Given the description of an element on the screen output the (x, y) to click on. 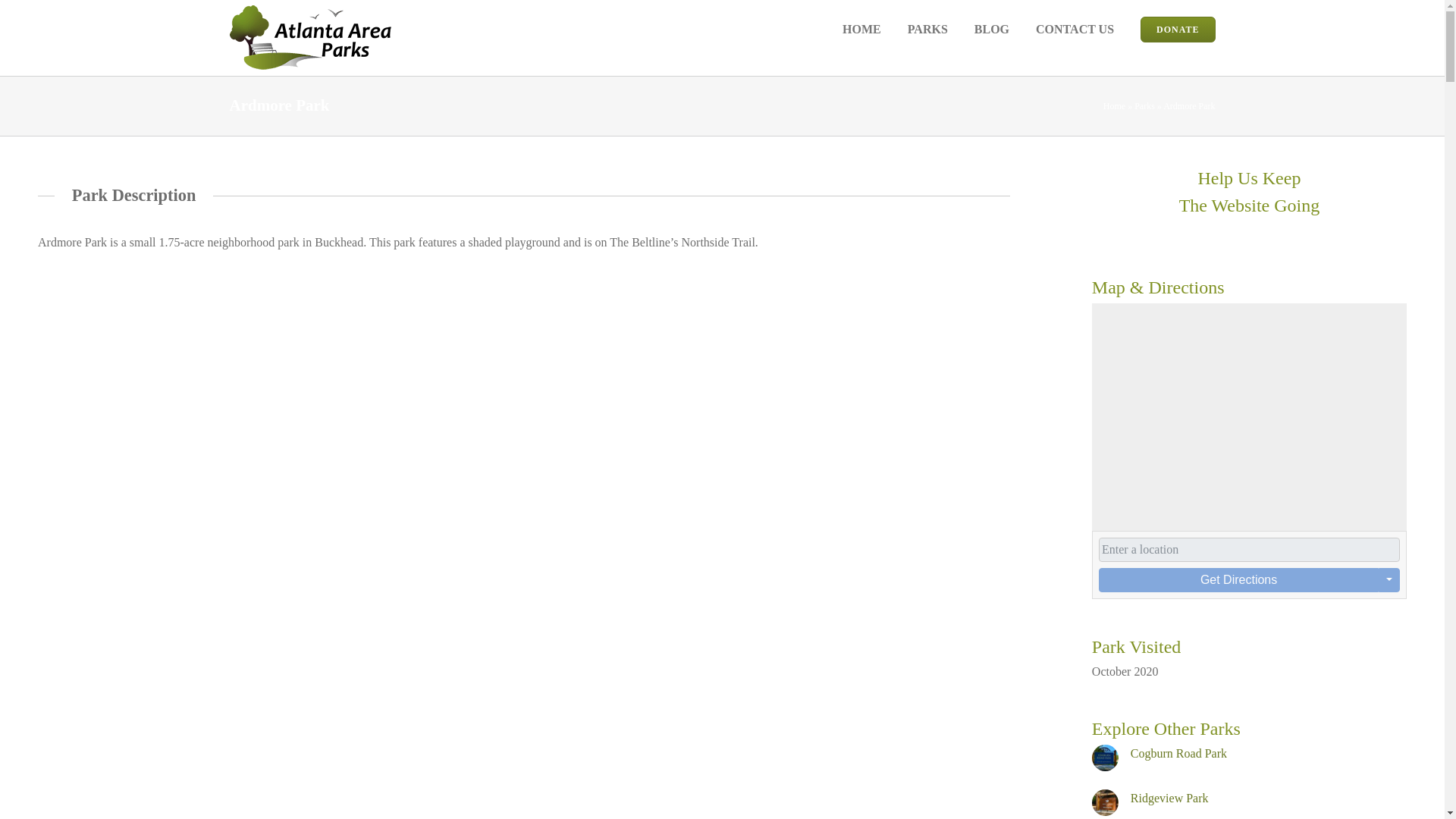
Ridgeview Park (1169, 797)
DONATE (1177, 29)
Cogburn Road Park (1179, 753)
Home (1114, 105)
Parks (1144, 105)
Get Directions (1238, 580)
CONTACT US (1074, 29)
Cogburn Road Park (1179, 753)
